Given the description of an element on the screen output the (x, y) to click on. 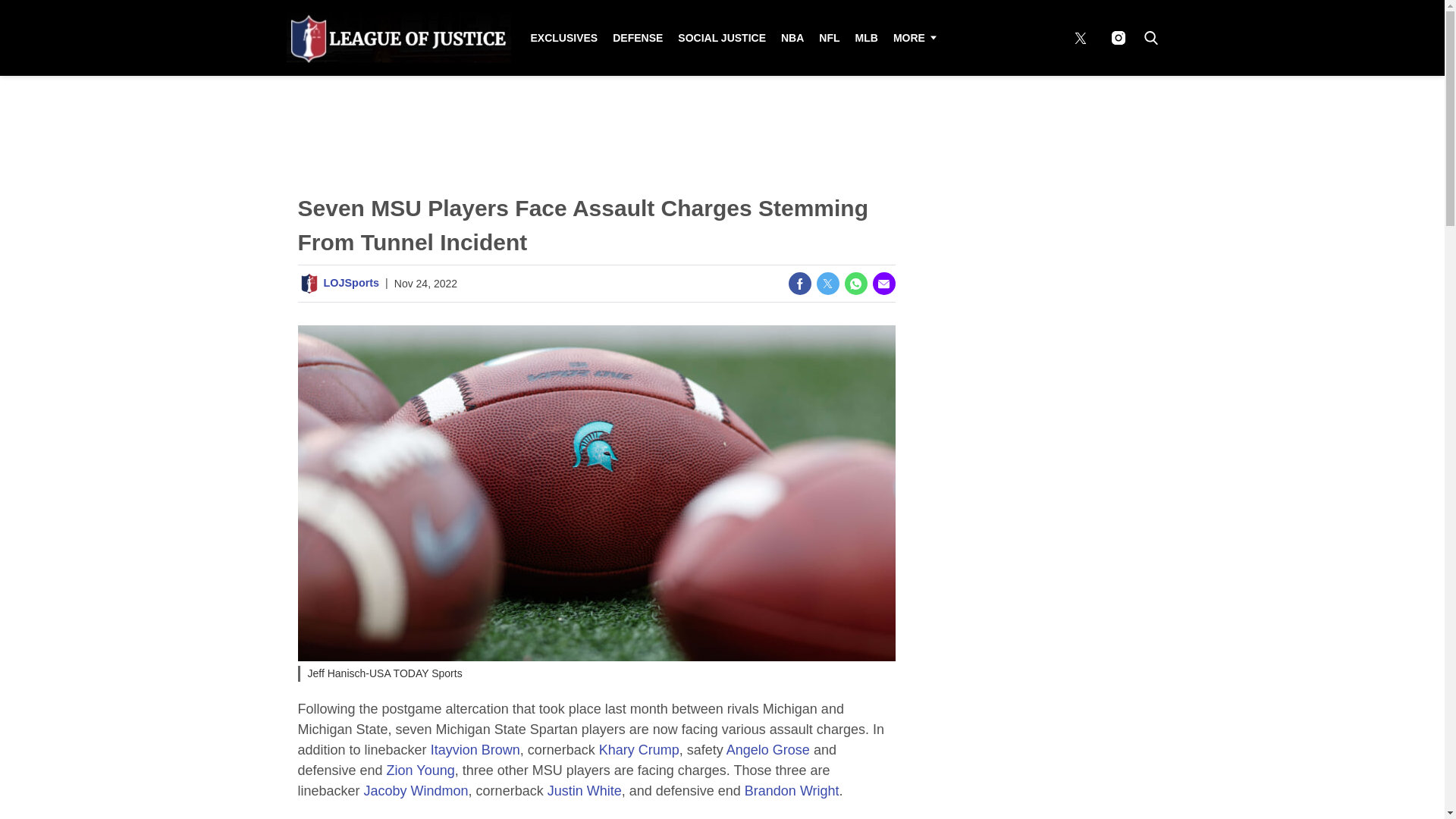
Jacoby Windmon (416, 790)
SOCIAL JUSTICE (721, 38)
Zion Young (420, 770)
Share on Facebook (799, 282)
Share on WhatsApp (855, 282)
EXCLUSIVES (563, 38)
LOJSports (350, 283)
Share via Email (883, 282)
Justin White (584, 790)
Share on Twitter (826, 282)
Posts by LOJSports (350, 283)
Khary Crump (638, 749)
Angelo Grose (767, 749)
Brandon Wright (792, 790)
Itayvion Brown (474, 749)
